Given the description of an element on the screen output the (x, y) to click on. 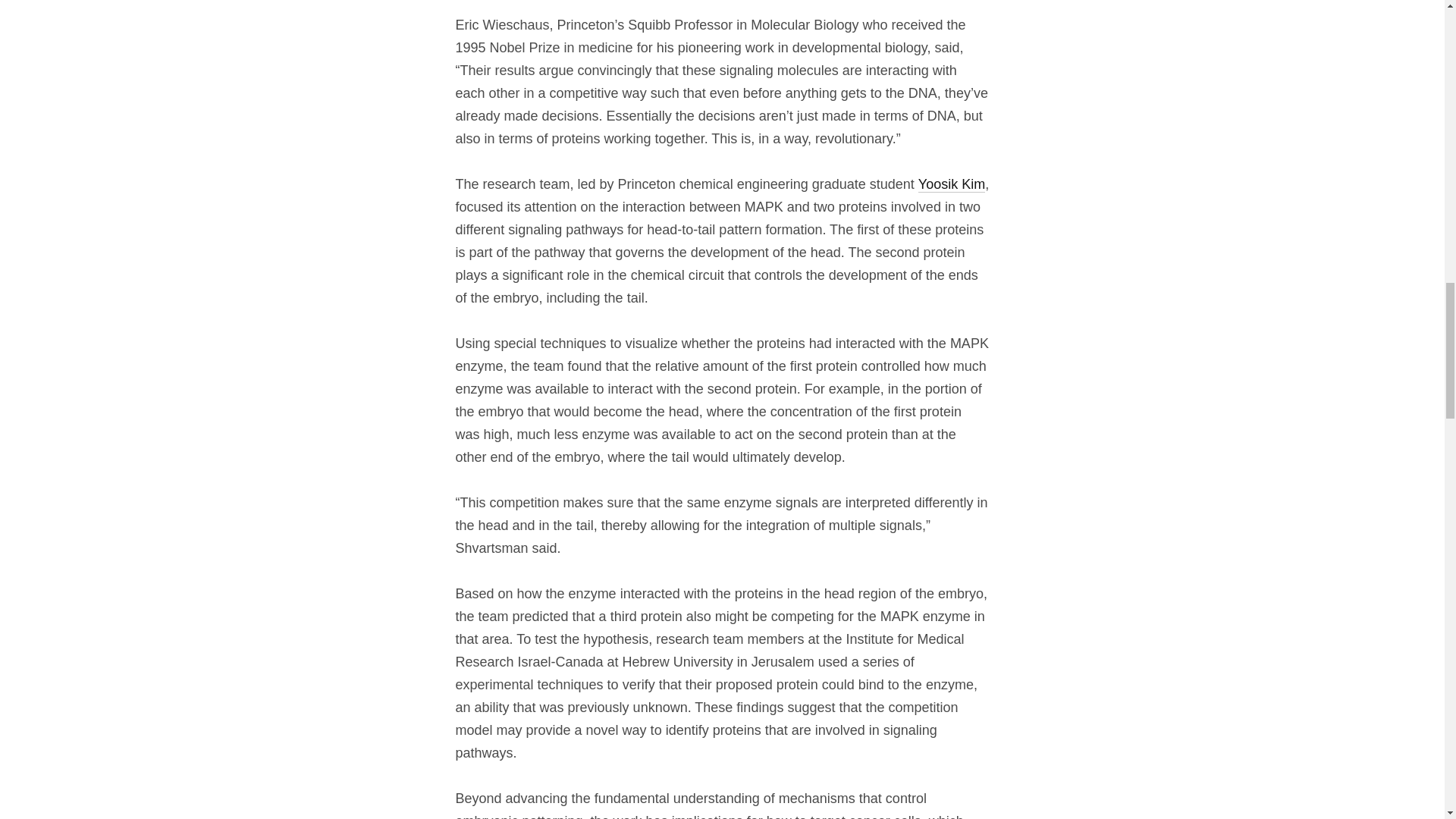
Yoosik Kim (951, 184)
